Given the description of an element on the screen output the (x, y) to click on. 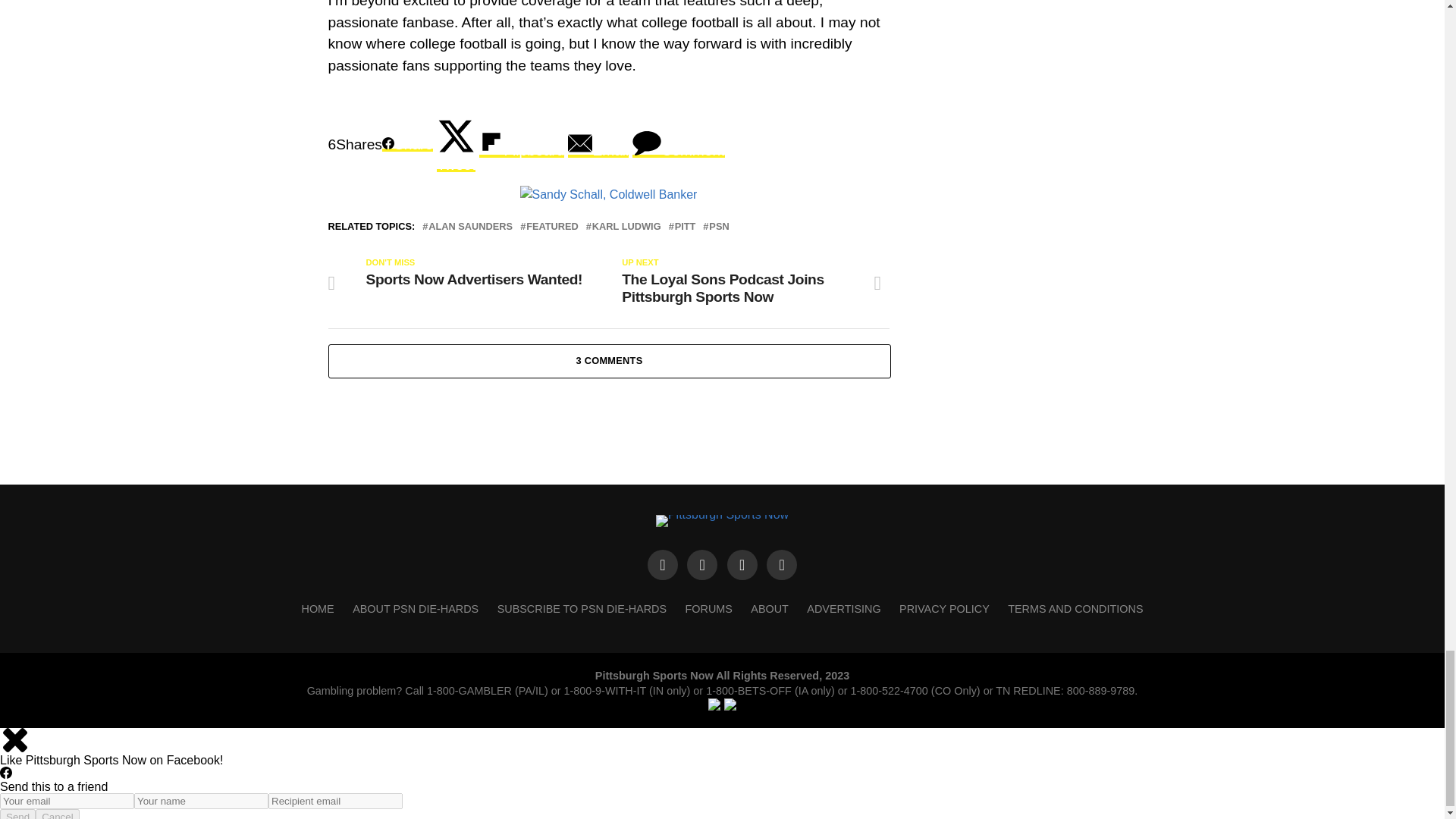
Share on Comment (677, 144)
Share on Share (406, 144)
Share on Email (597, 144)
Share on Flipboard (521, 144)
